Given the description of an element on the screen output the (x, y) to click on. 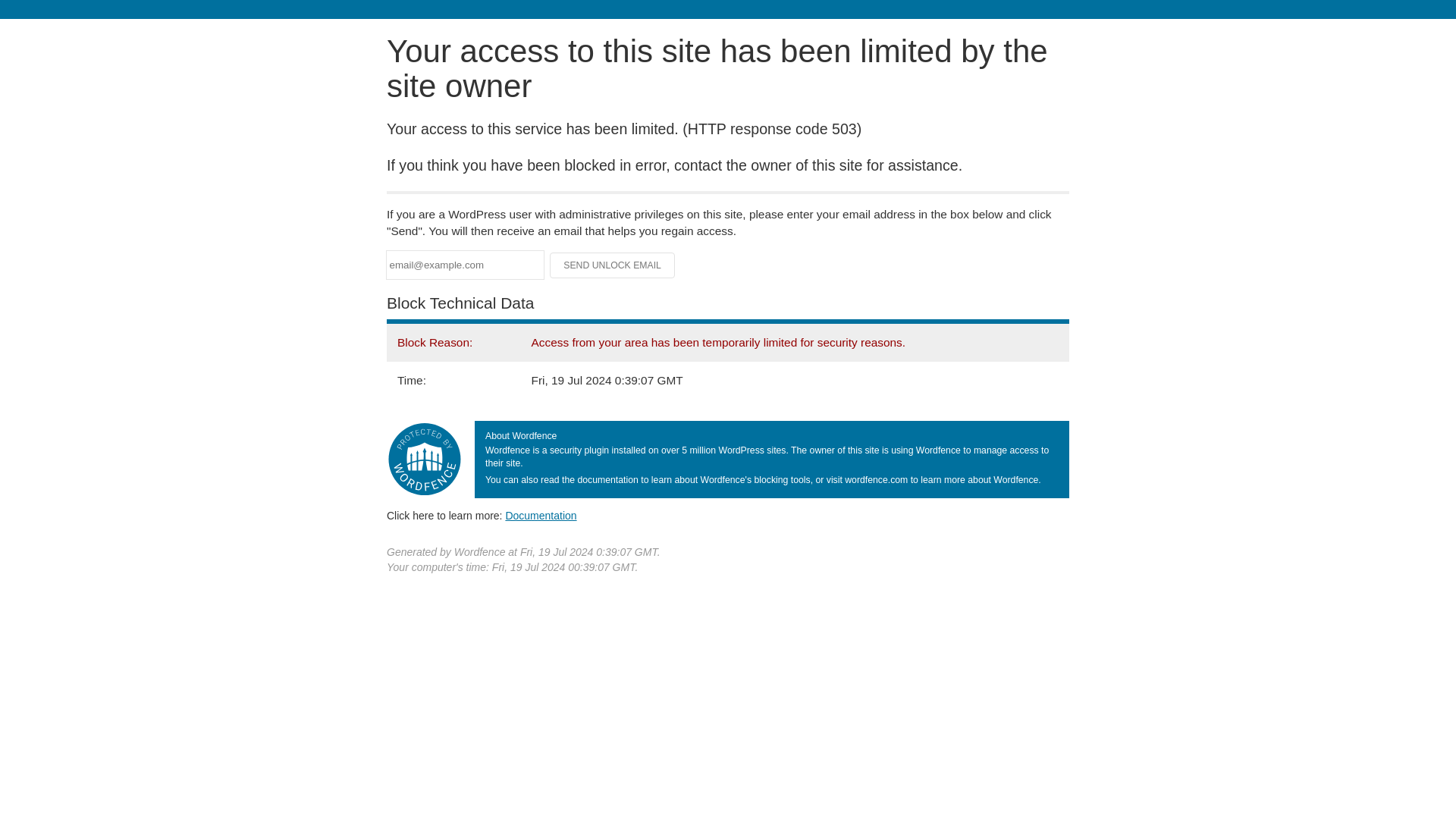
Send Unlock Email (612, 265)
Documentation (540, 515)
Send Unlock Email (612, 265)
